Given the description of an element on the screen output the (x, y) to click on. 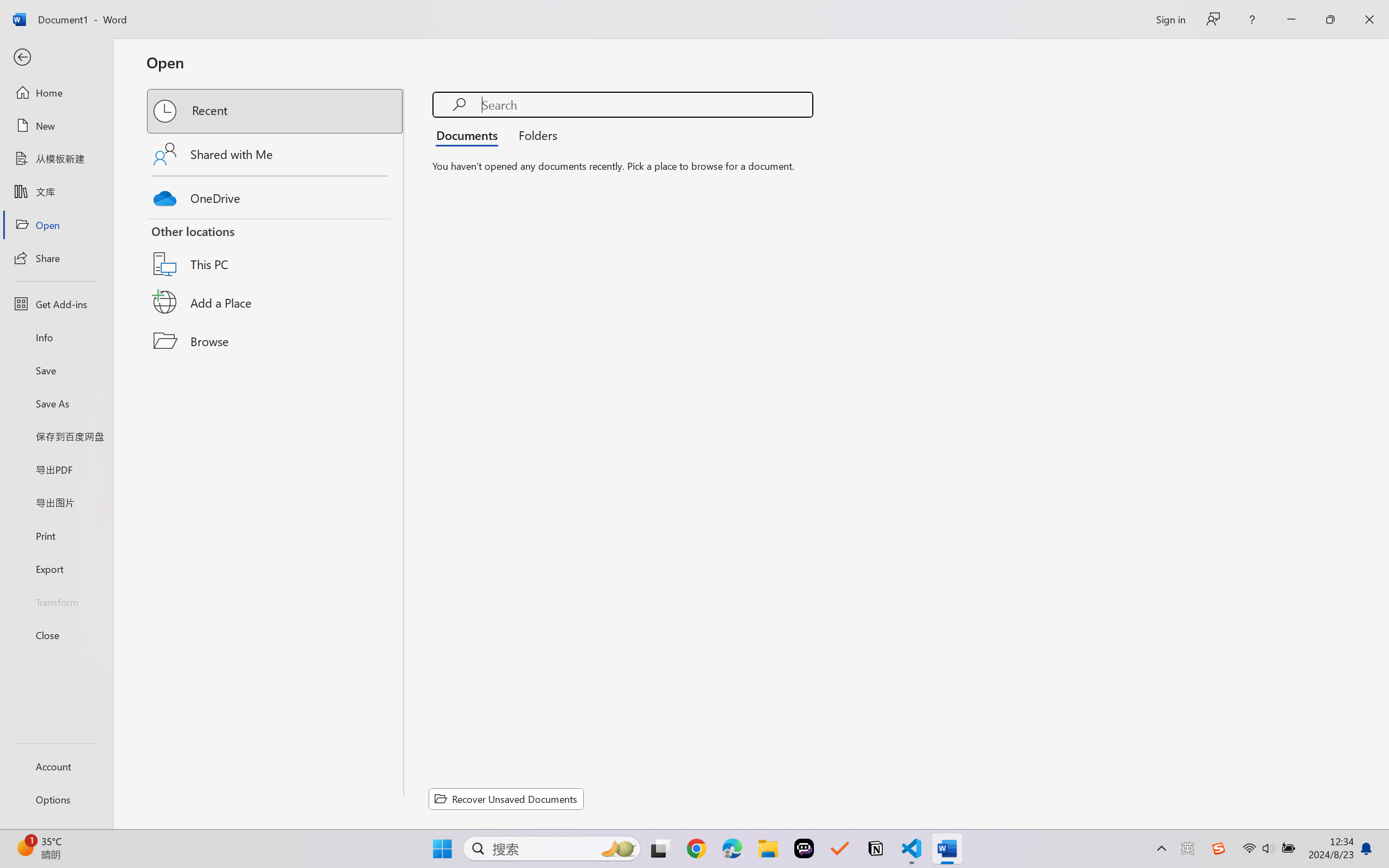
Shared with Me (275, 153)
Print (56, 535)
